Given the description of an element on the screen output the (x, y) to click on. 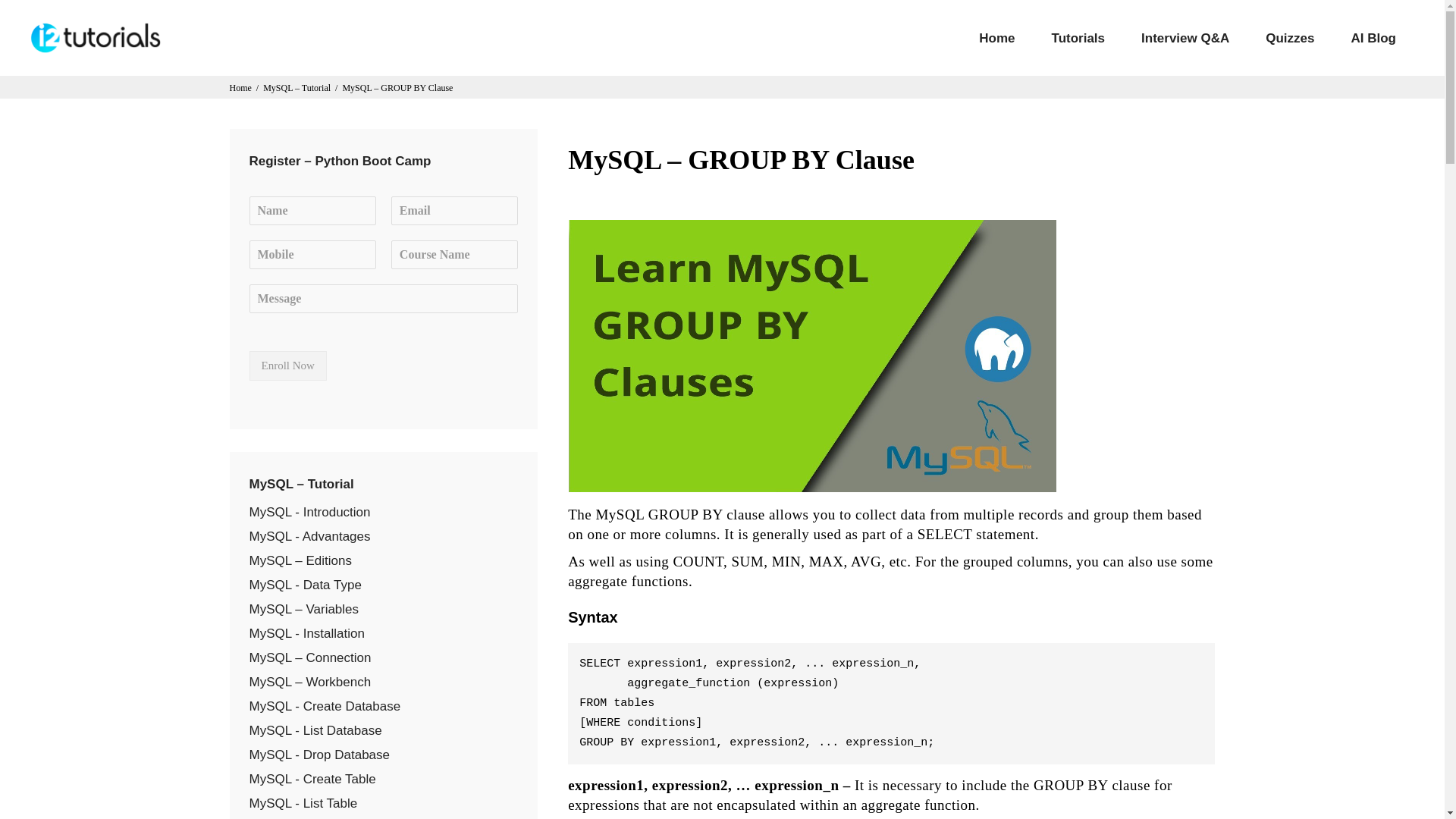
Quizzes (1289, 38)
Tutorials (1078, 38)
AI Blog (1374, 38)
Home (996, 38)
